Given the description of an element on the screen output the (x, y) to click on. 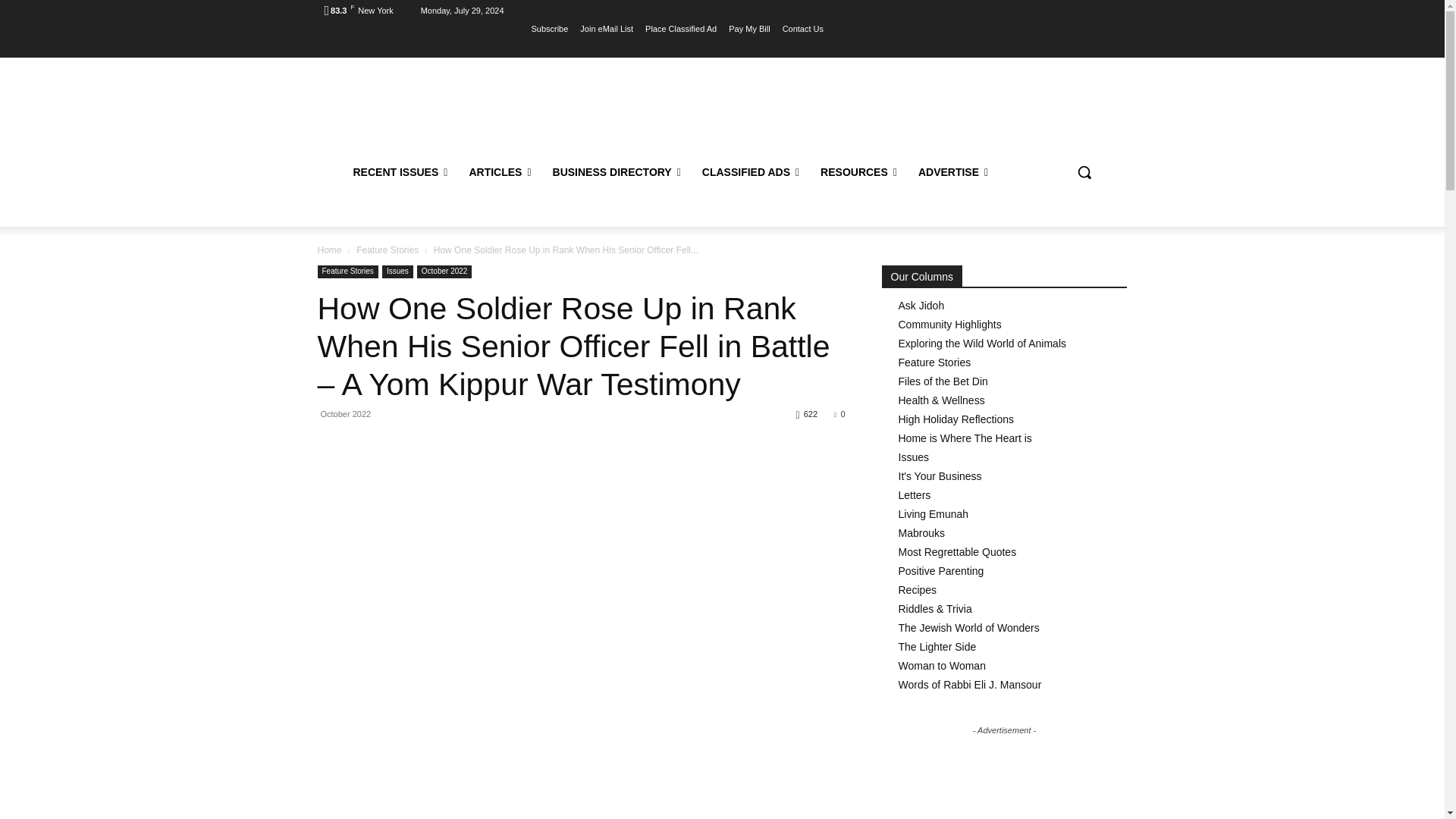
View all posts in Feature Stories (387, 249)
